Given the description of an element on the screen output the (x, y) to click on. 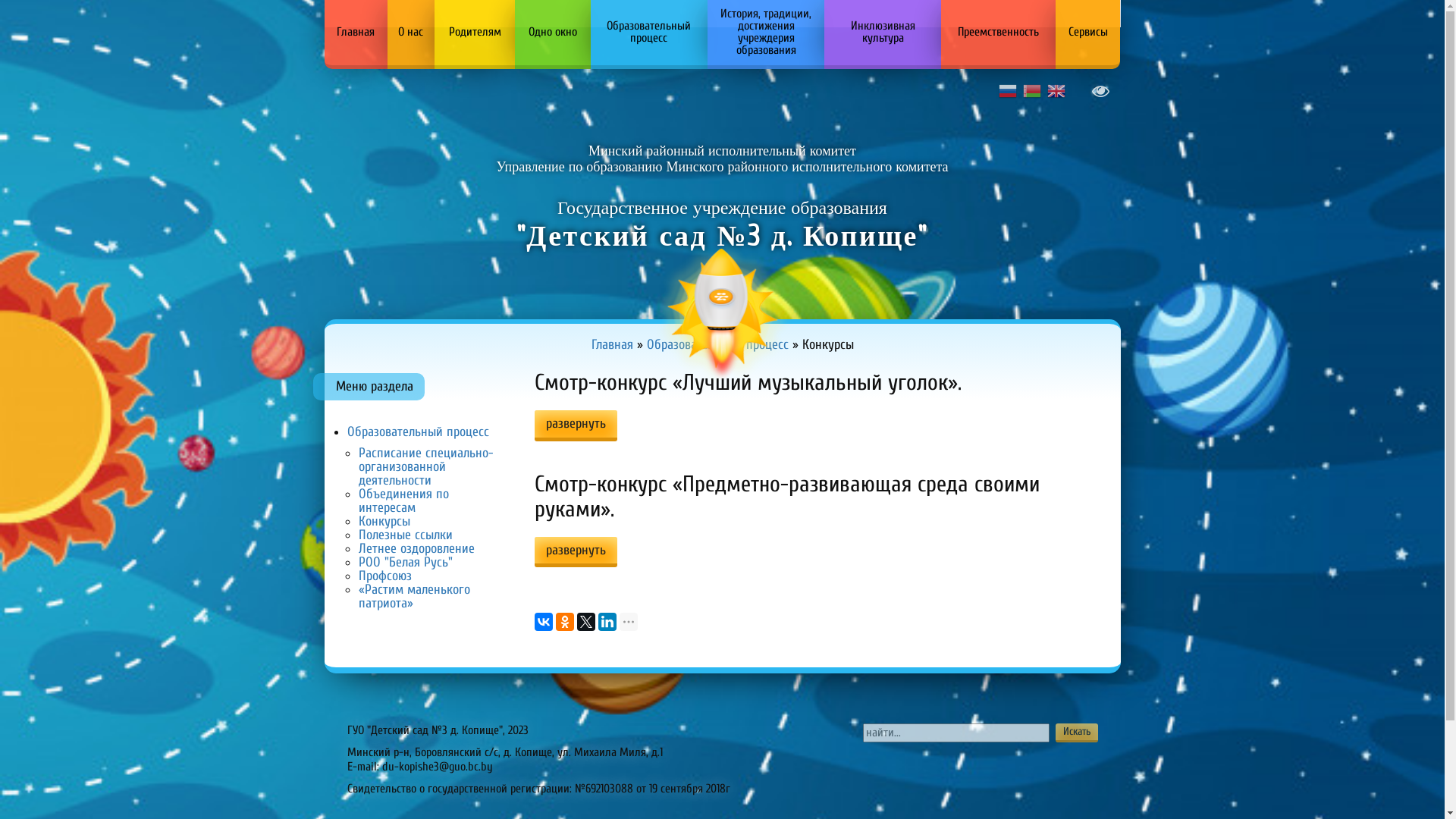
Twitter Element type: hover (586, 621)
LinkedIn Element type: hover (607, 621)
